Given the description of an element on the screen output the (x, y) to click on. 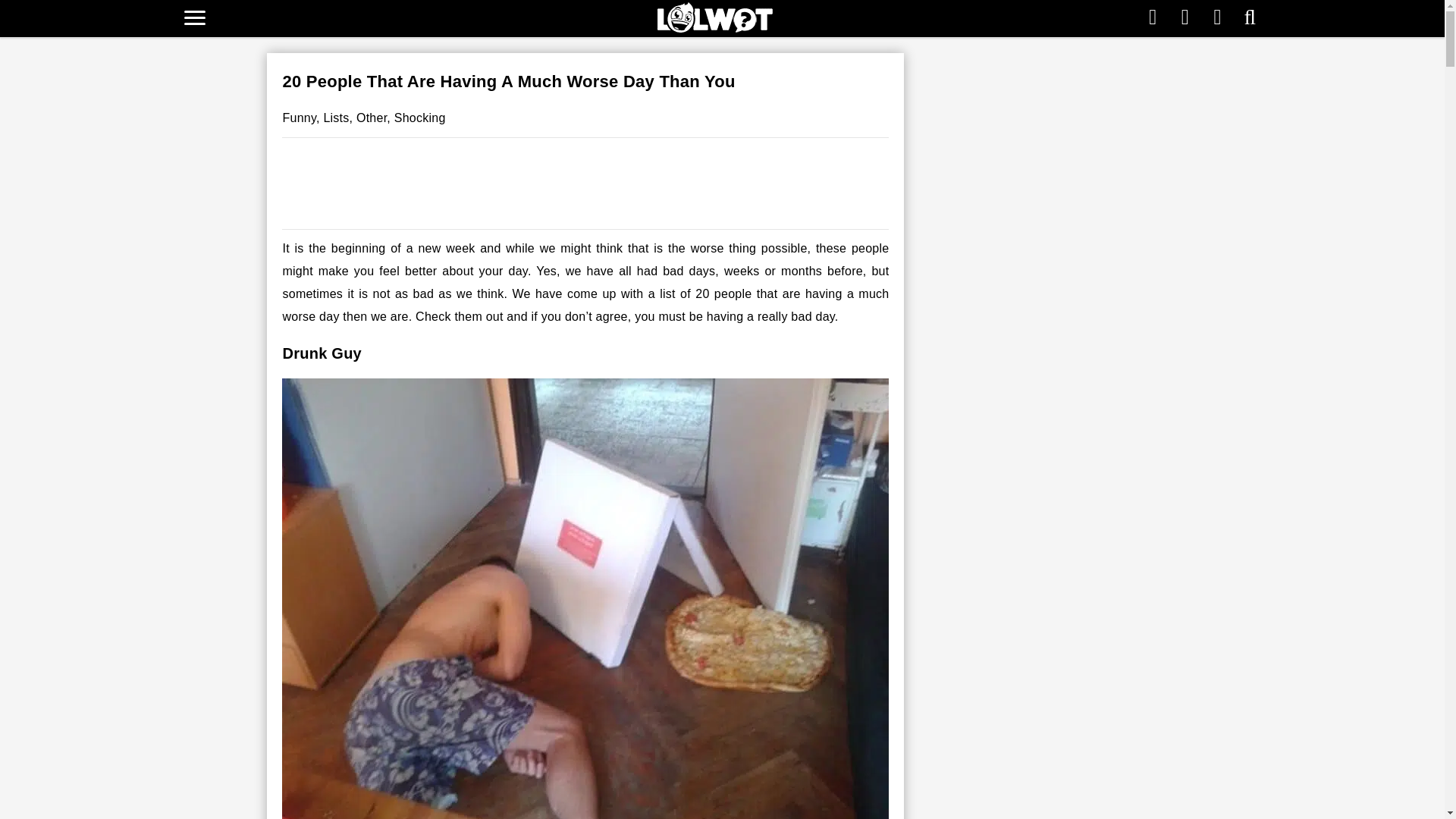
LOLWOT (715, 16)
